Given the description of an element on the screen output the (x, y) to click on. 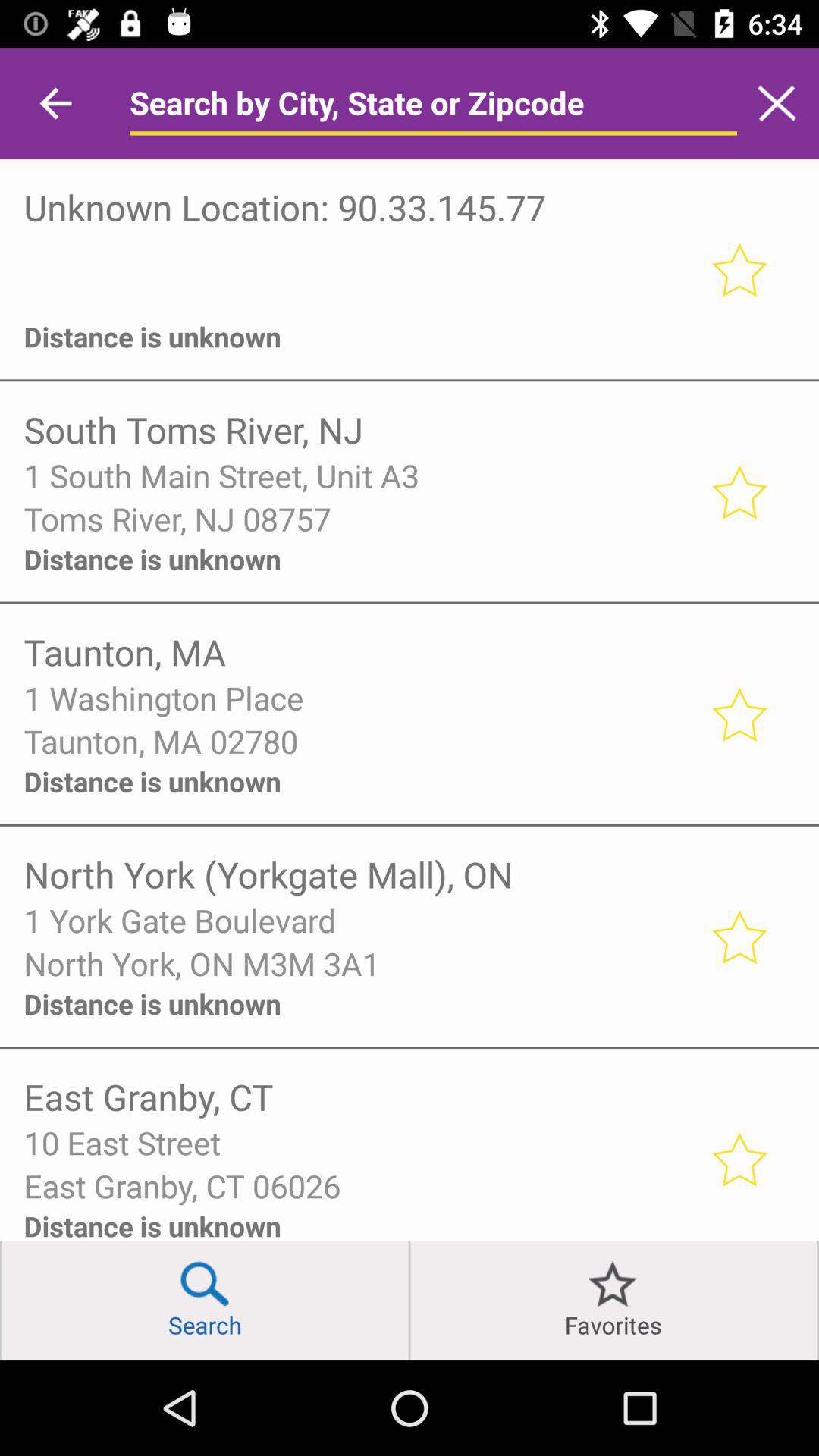
add favorite (738, 1158)
